Given the description of an element on the screen output the (x, y) to click on. 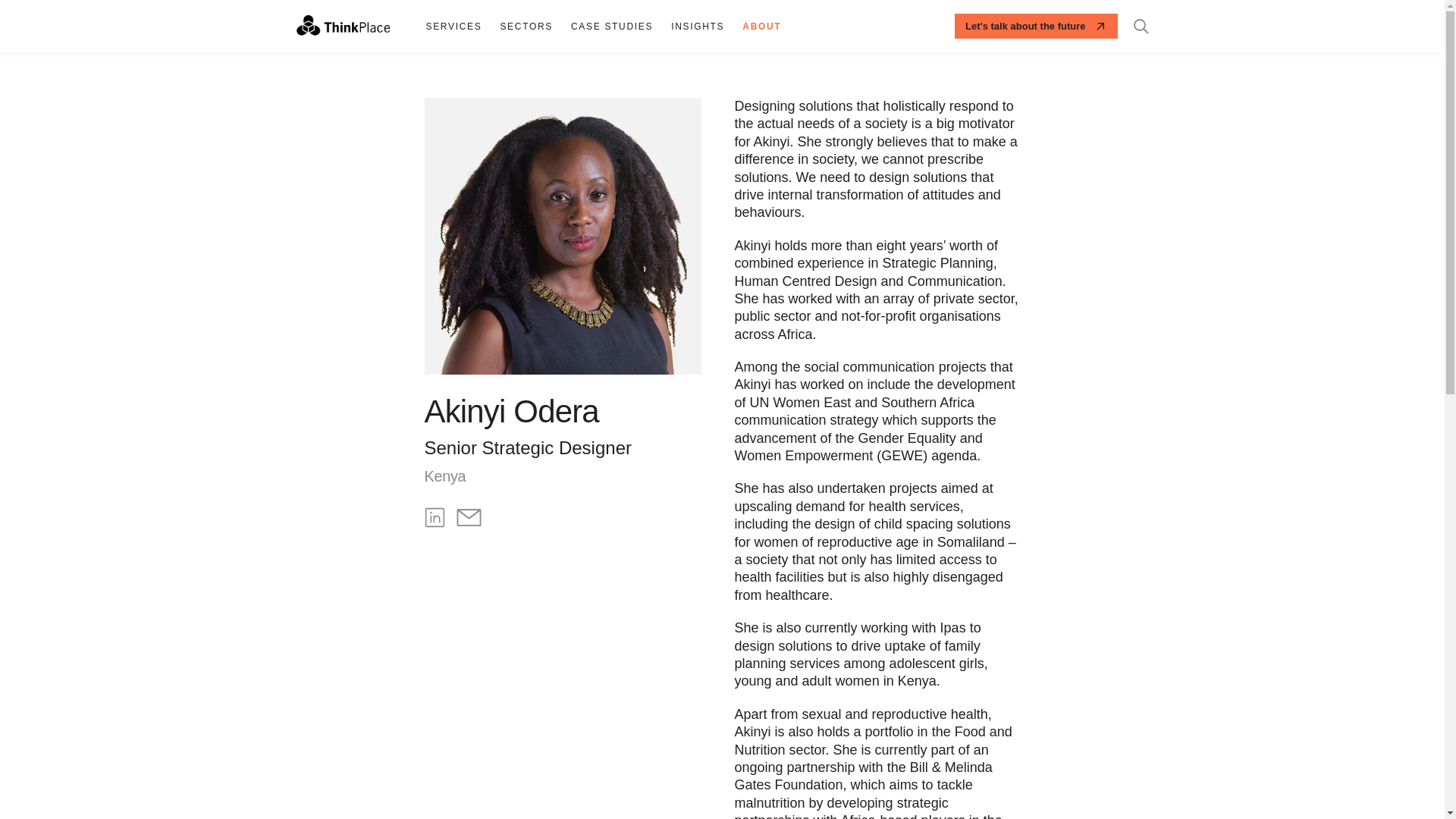
Let's talk about the future (1035, 25)
ABOUT (761, 25)
SECTORS (526, 25)
CASE STUDIES (612, 25)
SERVICES (454, 25)
INSIGHTS (697, 25)
